Given the description of an element on the screen output the (x, y) to click on. 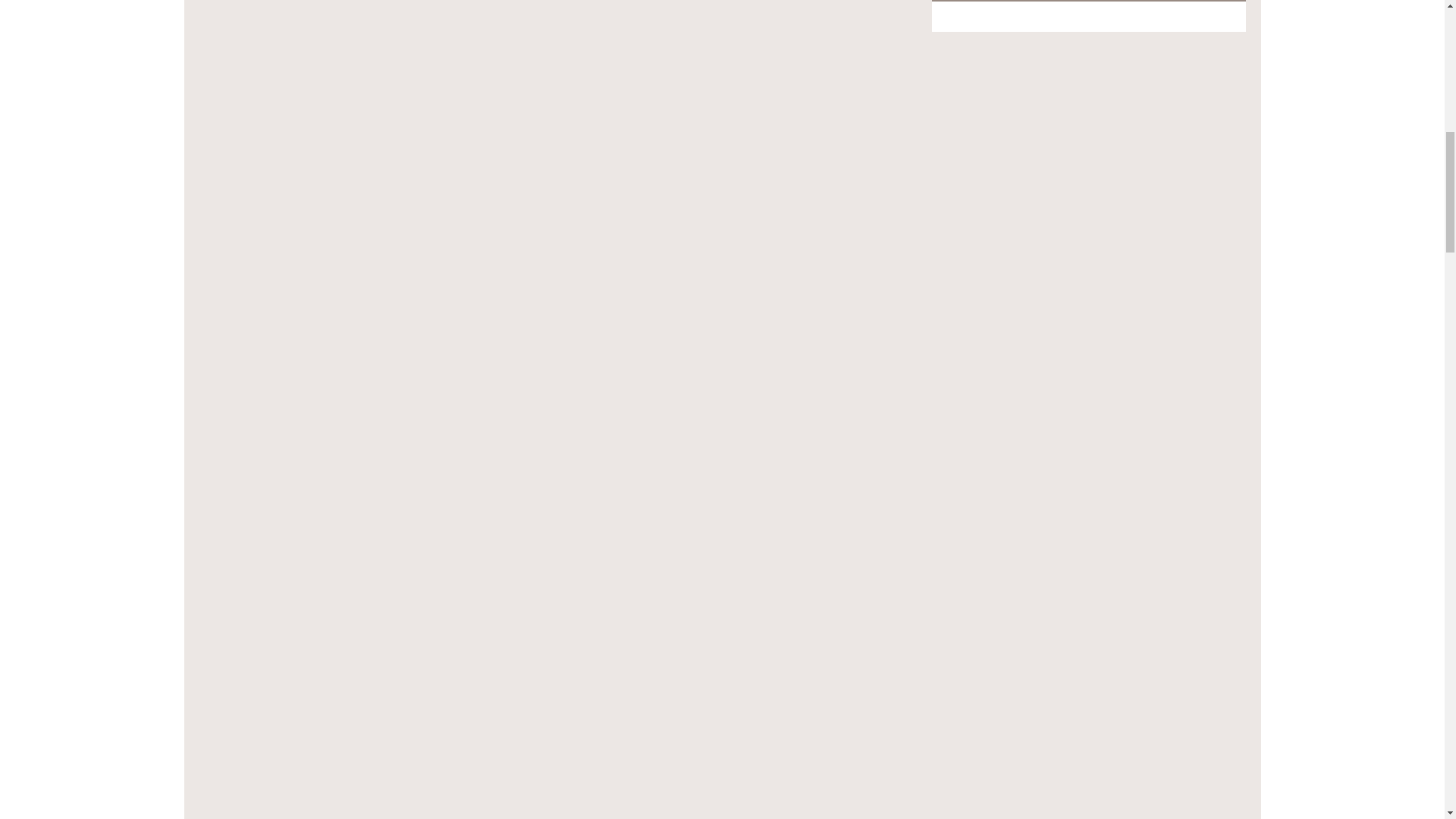
Scroll back to top (1406, 720)
